Given the description of an element on the screen output the (x, y) to click on. 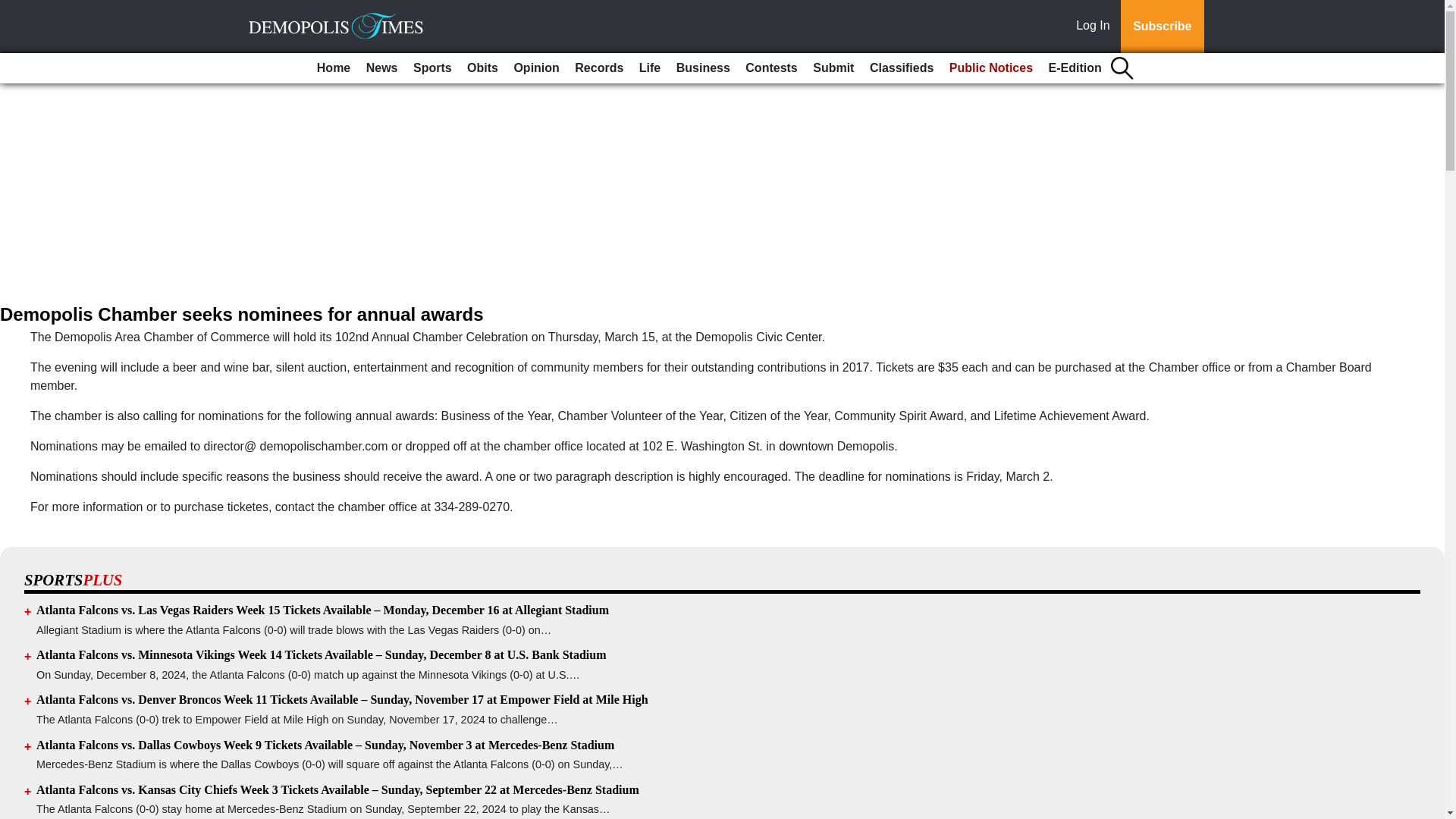
Life (649, 68)
Subscribe (1162, 26)
Log In (1095, 26)
Go (13, 9)
Sports (432, 68)
Contests (771, 68)
Public Notices (991, 68)
E-Edition (1075, 68)
Home (333, 68)
Business (702, 68)
Records (598, 68)
Classifieds (901, 68)
Submit (833, 68)
Obits (482, 68)
News (381, 68)
